Given the description of an element on the screen output the (x, y) to click on. 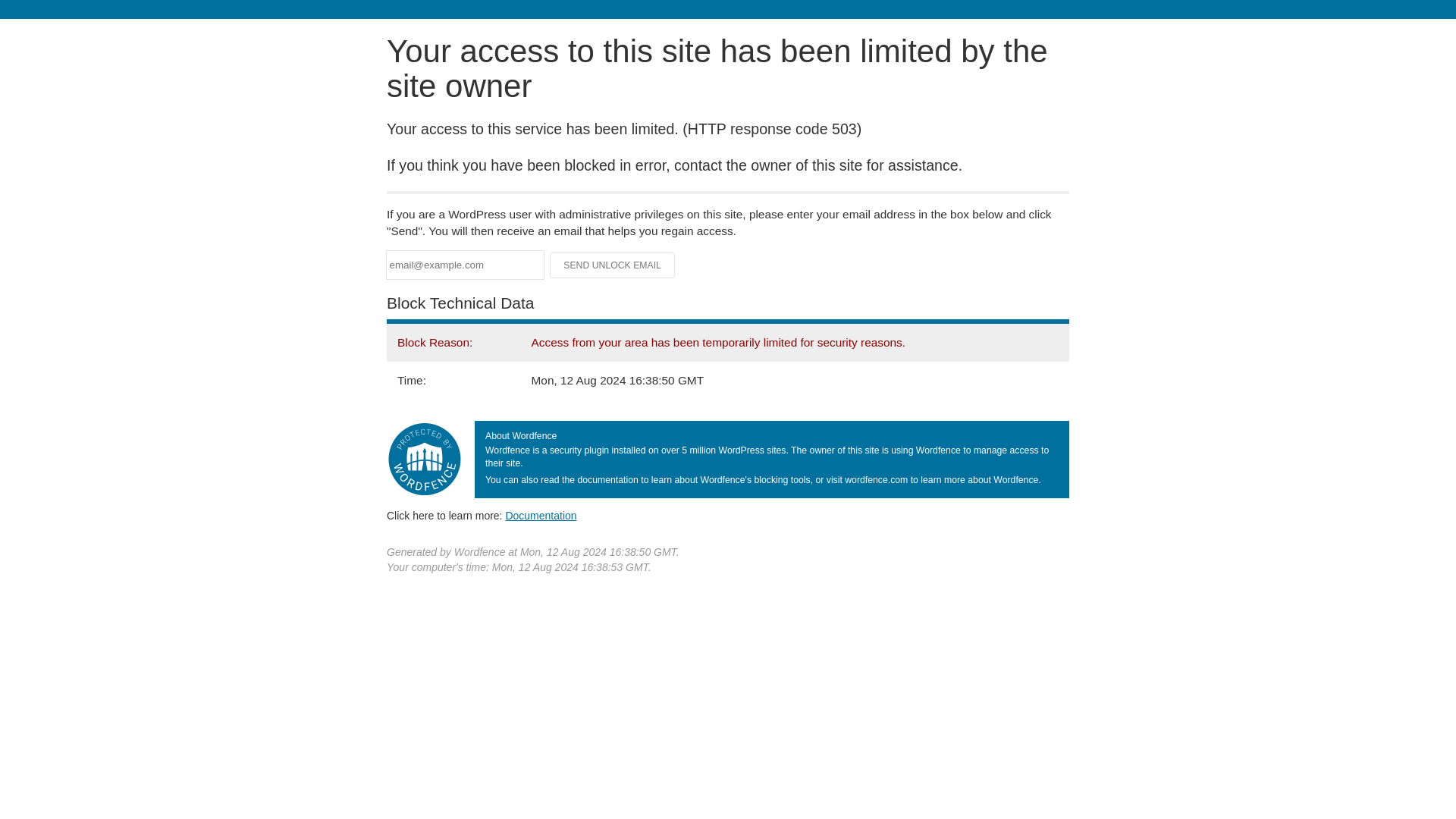
Documentation (540, 515)
Send Unlock Email (612, 265)
Send Unlock Email (612, 265)
